Given the description of an element on the screen output the (x, y) to click on. 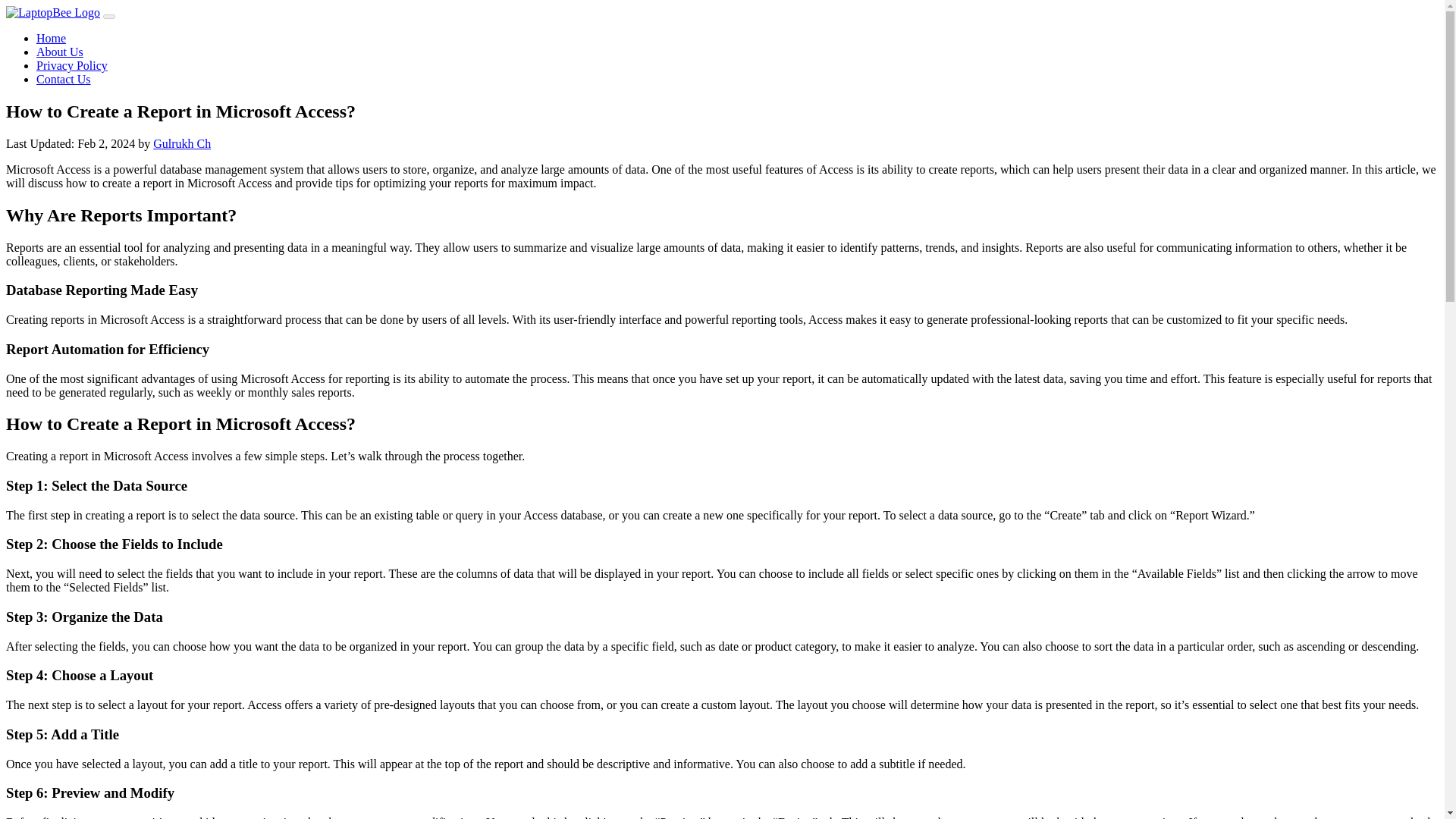
Contact Us (63, 78)
Posts by Gulrukh Ch (181, 143)
About Us (59, 51)
Home (50, 38)
Privacy Policy (71, 65)
Gulrukh Ch (181, 143)
